Given the description of an element on the screen output the (x, y) to click on. 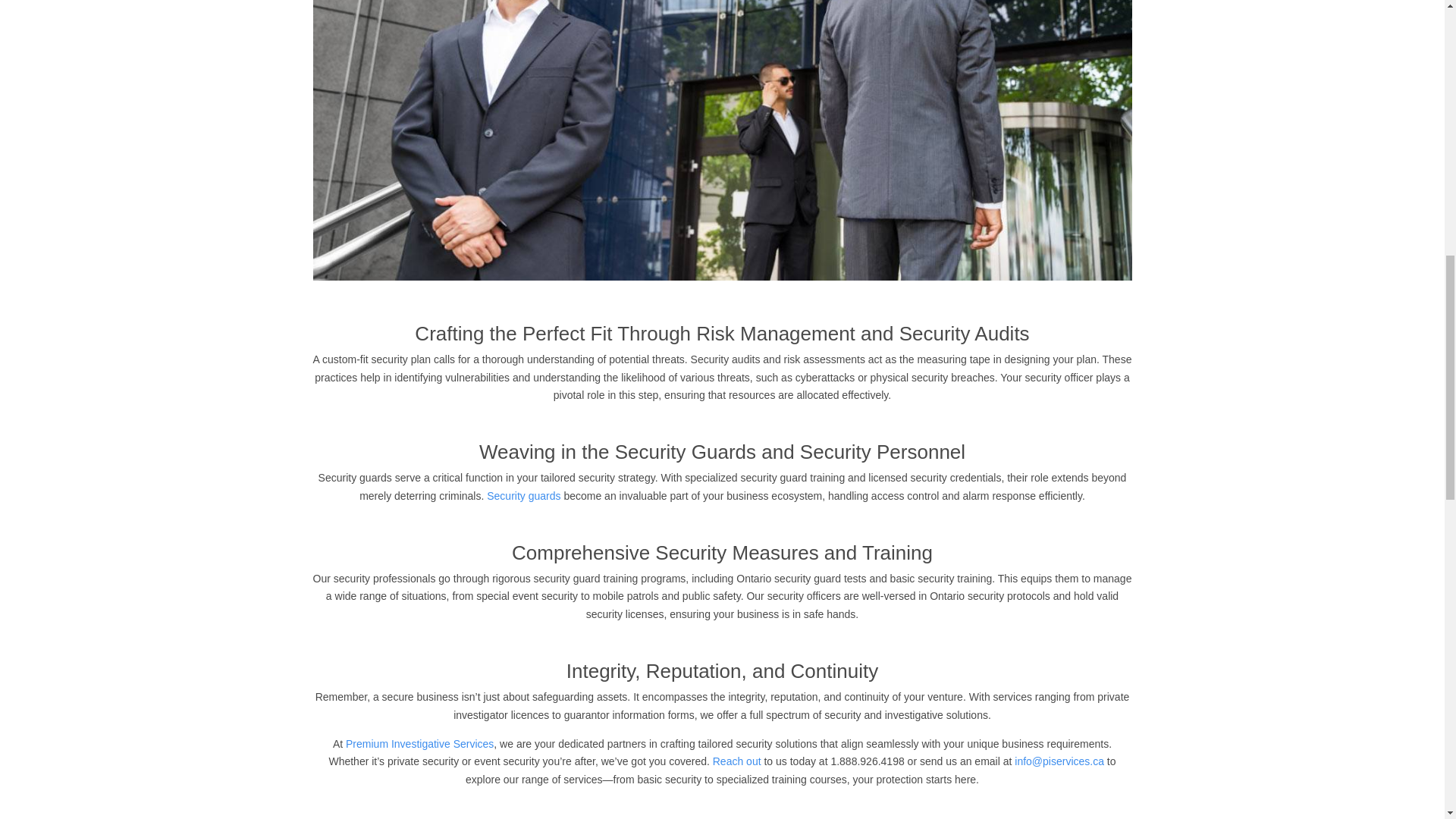
Reach out (737, 761)
Premium Investigative Services (419, 743)
Security guards (523, 495)
